Given the description of an element on the screen output the (x, y) to click on. 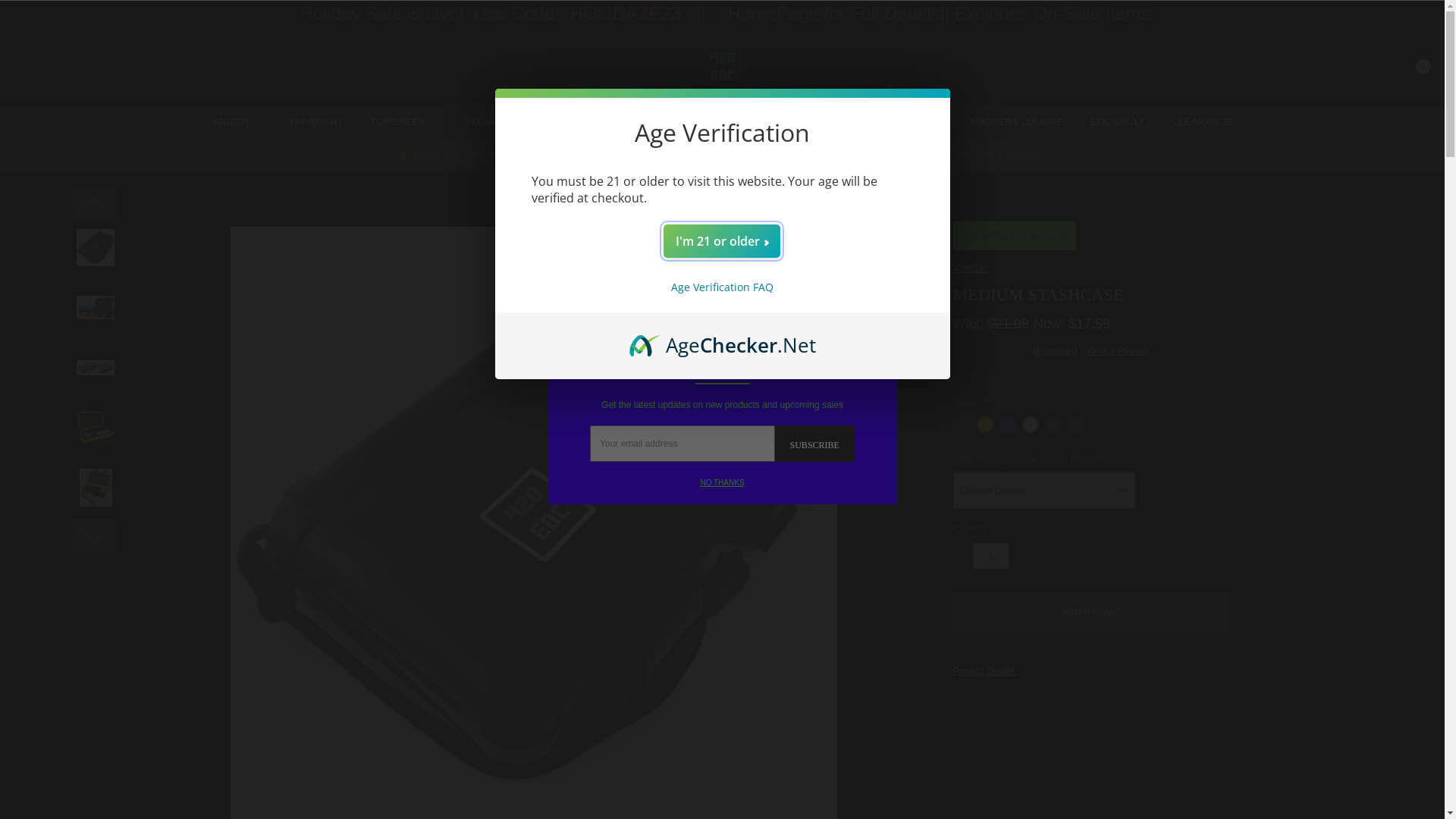
OD Green Element type: hover (1075, 424)
Home Element type: text (632, 191)
(8 reviews) Element type: text (1054, 350)
420EDC Element type: text (970, 267)
See Home Page for Full Details Element type: text (973, 154)
Storage Solutions Element type: text (694, 191)
Add to Cart Element type: text (1091, 611)
Product Details Element type: text (989, 670)
STORAGE SOLUTIONS Element type: text (770, 121)
EDC VAULT Element type: text (1116, 121)
TOPGREEN Element type: text (403, 121)
Black Element type: hover (961, 424)
Clear (with black padding) Element type: hover (1030, 424)
Blue Element type: hover (1007, 424)
TIWAREZ Element type: text (562, 121)
AgeChecker.Net Element type: text (722, 338)
Medium StashCase Element type: text (784, 191)
Yellow Element type: hover (984, 424)
YLLVAPE Element type: text (486, 121)
DECREASE QUANTITY: Element type: text (962, 555)
Code Does Not Apply to Items Already On-Sale Element type: text (781, 154)
420EDC Element type: hover (722, 65)
SMOKERS LOUNGE Element type: text (1016, 121)
INCREASE QUANTITY: Element type: text (1018, 555)
TINYMIGHT Element type: text (316, 121)
Age Verification FAQ Element type: text (722, 286)
GRINDERS Element type: text (650, 121)
0 Element type: text (1411, 66)
End of Year Sale 10% Off + 5% Back || Use Code: Holidaze23 Element type: text (529, 154)
Stealth Gray Element type: hover (1052, 424)
ARIZER Element type: text (236, 121)
Write a Review Element type: text (1116, 350)
ACCESSORIES Element type: text (900, 121)
Previous Element type: text (87, 211)
Black 420EDC Medium StashCase Element type: hover (95, 247)
Next Element type: text (87, 543)
CLEARANCE Element type: text (1201, 121)
